Given the description of an element on the screen output the (x, y) to click on. 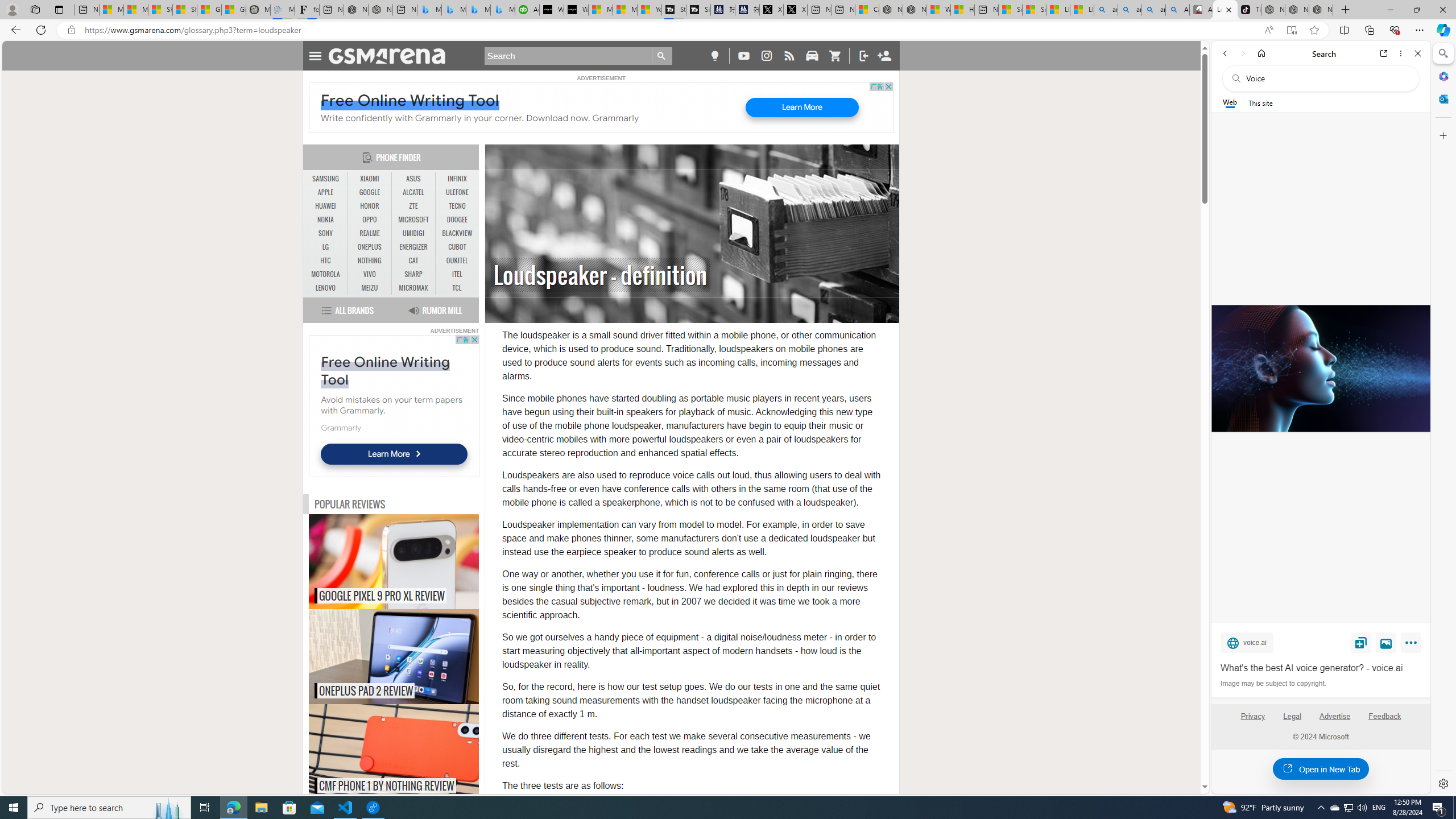
ASUS (413, 178)
Legal (1292, 720)
Grammarly (340, 426)
OnePlus Pad 2 review (417, 656)
Google Pixel 9 Pro XL review (417, 561)
Forward (1242, 53)
ITEL (457, 273)
CAT (413, 260)
Nordace - Siena Pro 15 Essential Set (1321, 9)
